Given the description of an element on the screen output the (x, y) to click on. 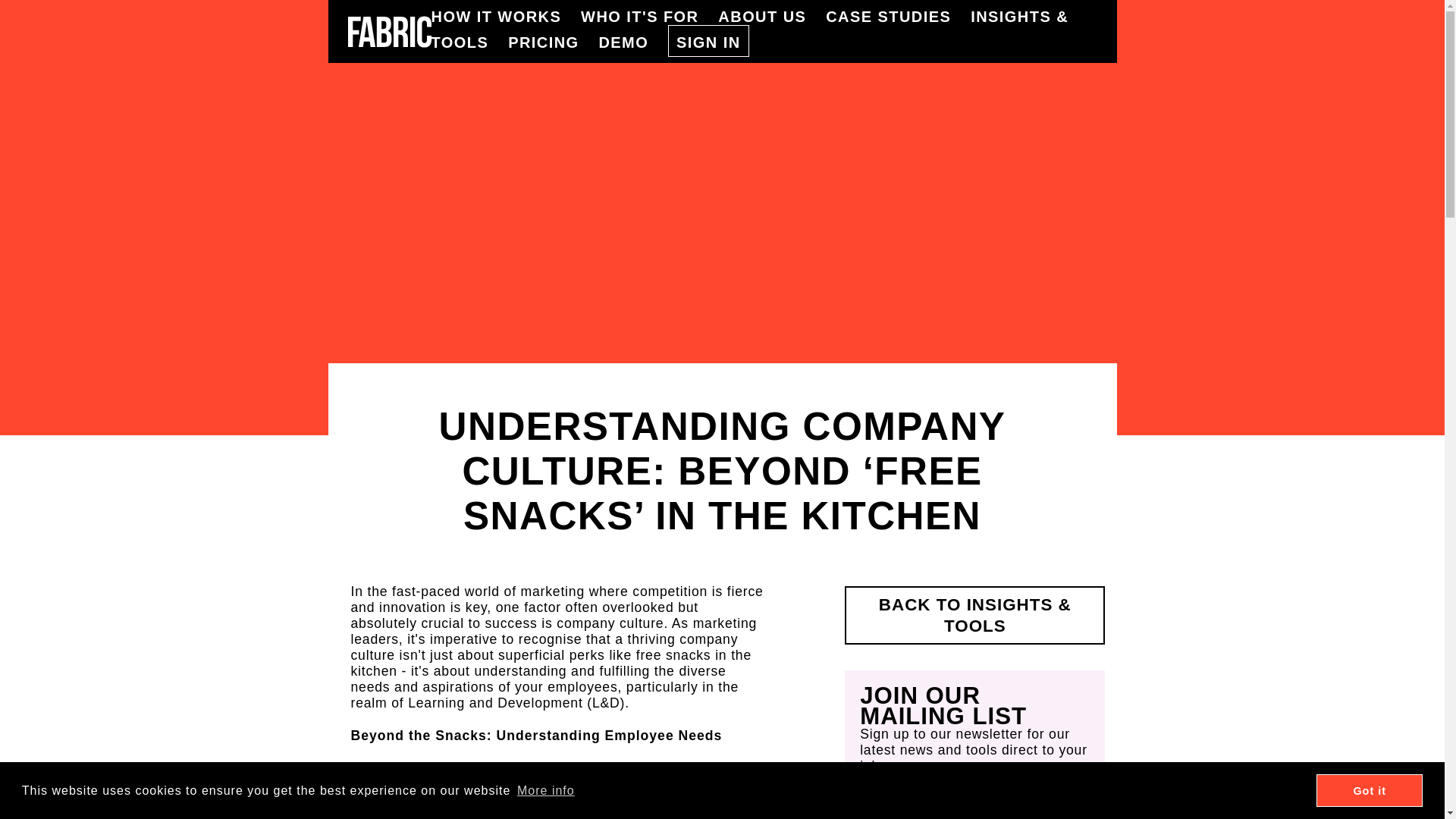
About us (771, 17)
Who it's for (648, 17)
CASE STUDIES (898, 17)
ABOUT US (771, 17)
SIGN IN (708, 40)
WHO IT'S FOR (648, 17)
Demo (633, 43)
More info (545, 790)
PRICING (553, 43)
Case Studies (898, 17)
Pricing (553, 43)
How it works (505, 17)
HOW IT WORKS (505, 17)
Got it (1369, 789)
DEMO (633, 43)
